Given the description of an element on the screen output the (x, y) to click on. 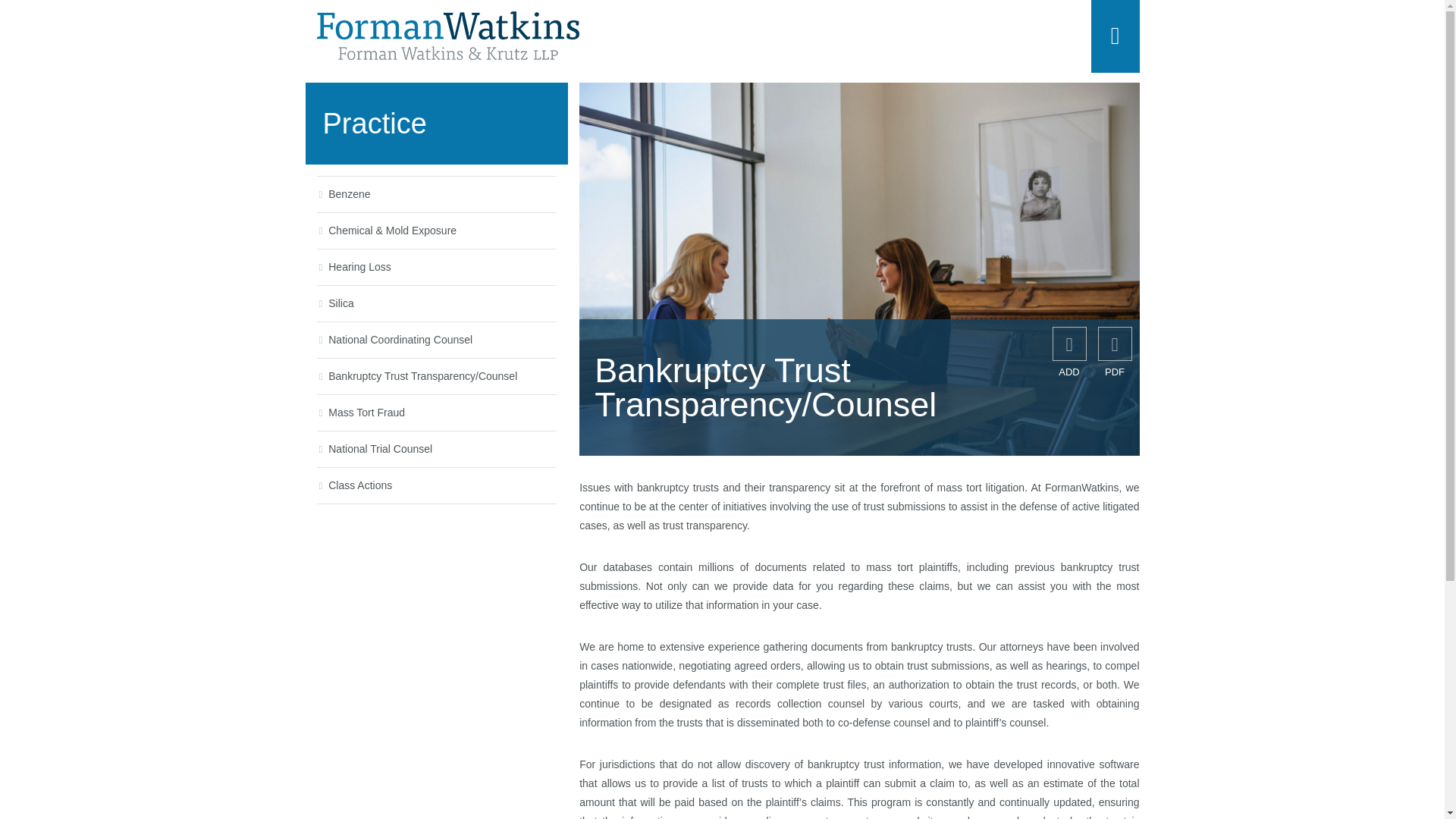
National Trial Counsel (380, 449)
Silica (341, 303)
Practice (435, 123)
Class Actions (360, 485)
Mass Tort Fraud (366, 412)
Benzene (349, 193)
Hearing Loss (360, 266)
National Coordinating Counsel (400, 339)
